Given the description of an element on the screen output the (x, y) to click on. 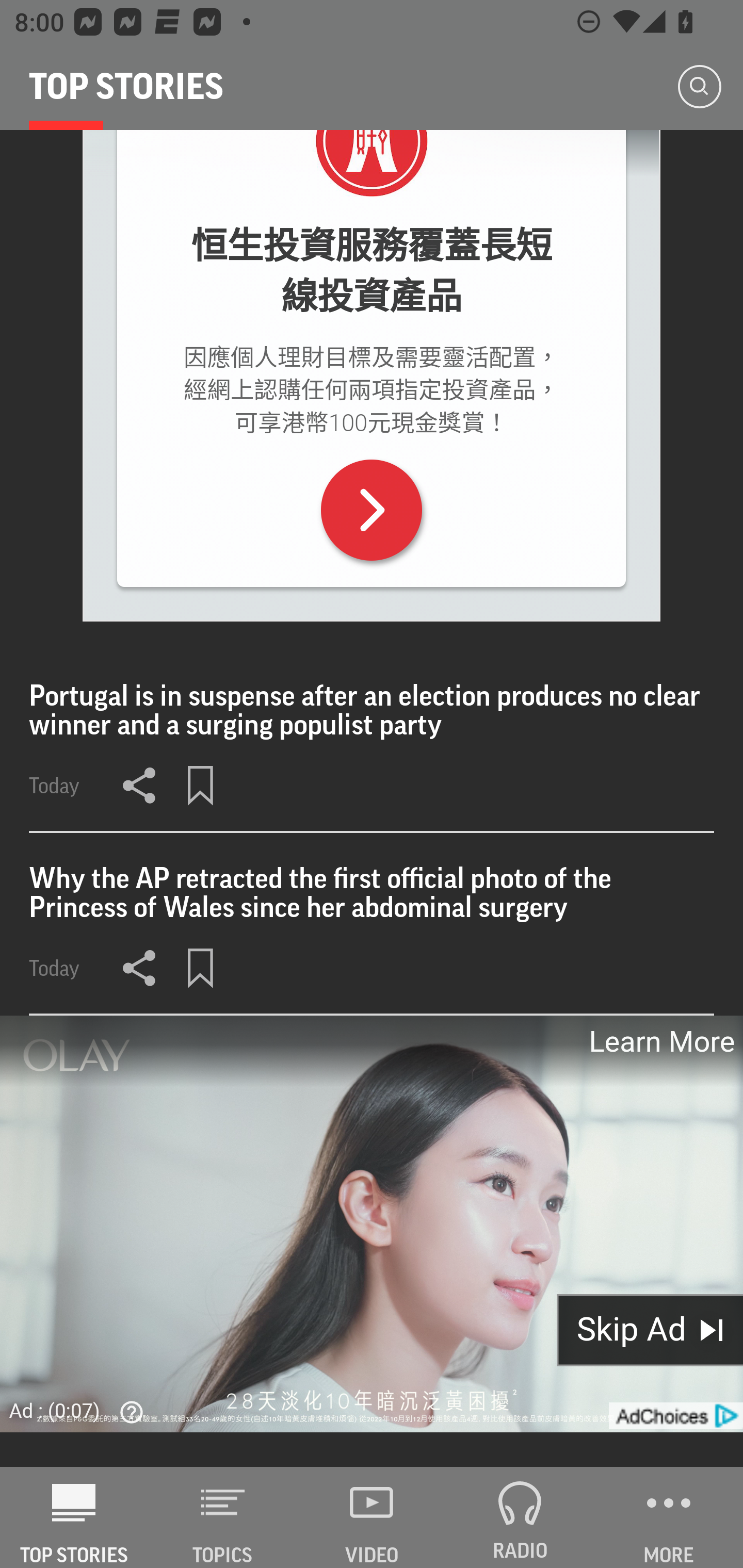
恒生投資服務覆蓋長短 線投資產品 恒生投資服務覆蓋長短 線投資產品 (371, 271)
B31268930 (371, 510)
Learn More (660, 1041)
Skip Ad (649, 1330)
Ad : (0:07) Why This Ad? (82, 1410)
Why This Ad? (126, 1411)
get?name=admarker-full-tl (675, 1415)
AP News TOP STORIES (74, 1517)
TOPICS (222, 1517)
VIDEO (371, 1517)
RADIO (519, 1517)
MORE (668, 1517)
